Given the description of an element on the screen output the (x, y) to click on. 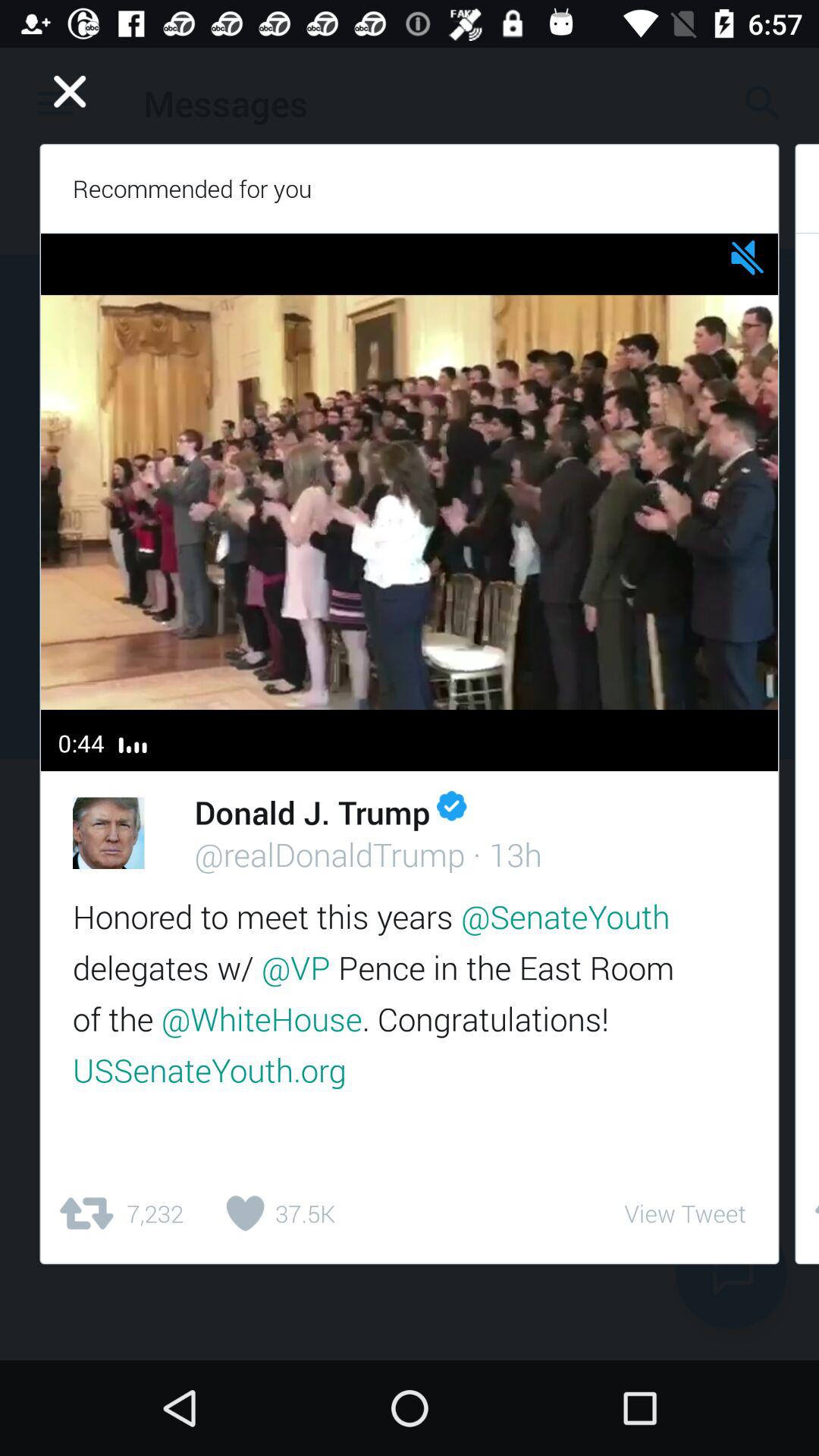
choose the icon below the honored to meet item (685, 1213)
